Given the description of an element on the screen output the (x, y) to click on. 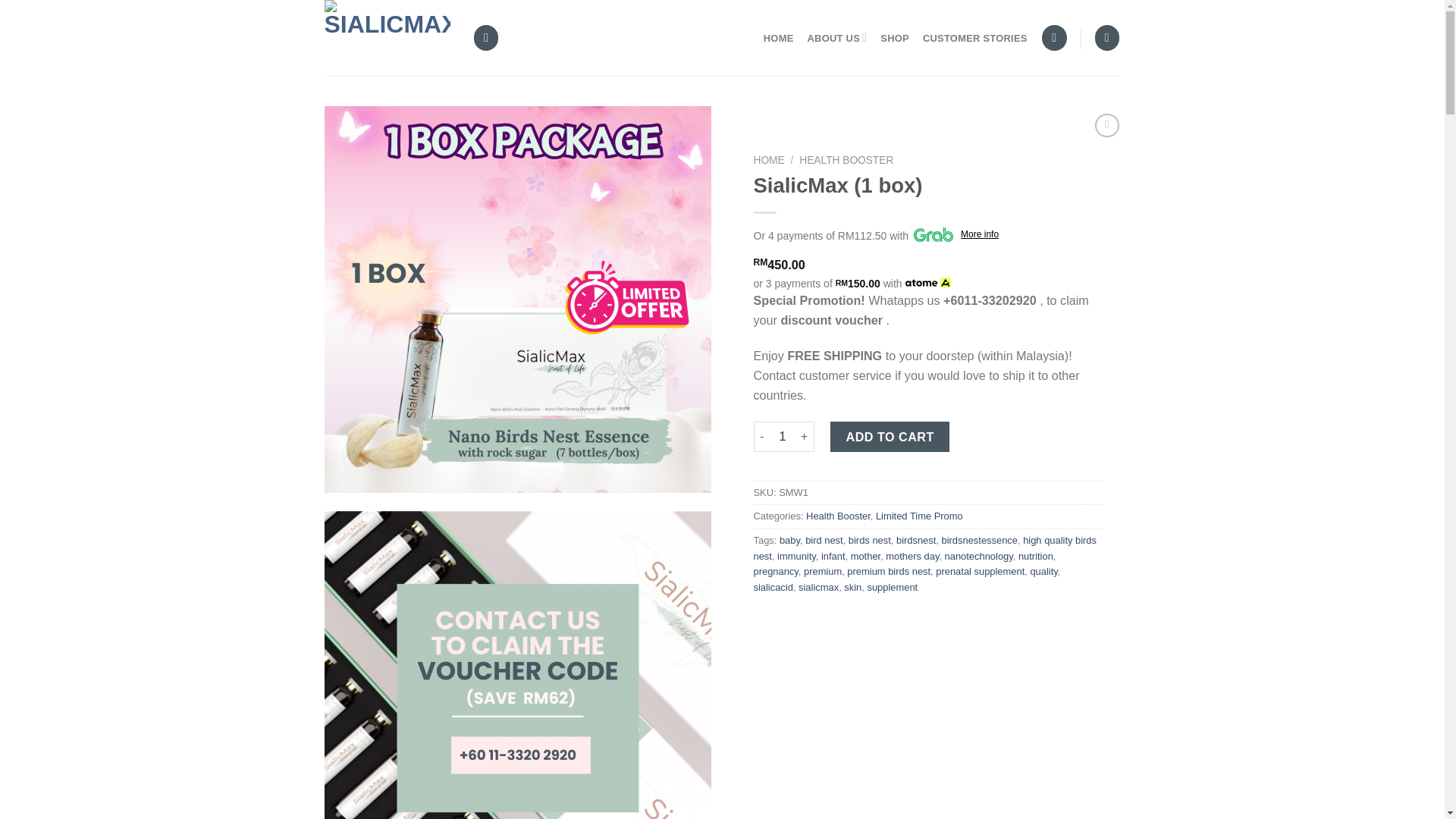
Cart (1106, 37)
CUSTOMER STORIES (975, 38)
HOME (777, 38)
SHOP (894, 38)
5 (517, 665)
ABOUT US (837, 37)
